Given the description of an element on the screen output the (x, y) to click on. 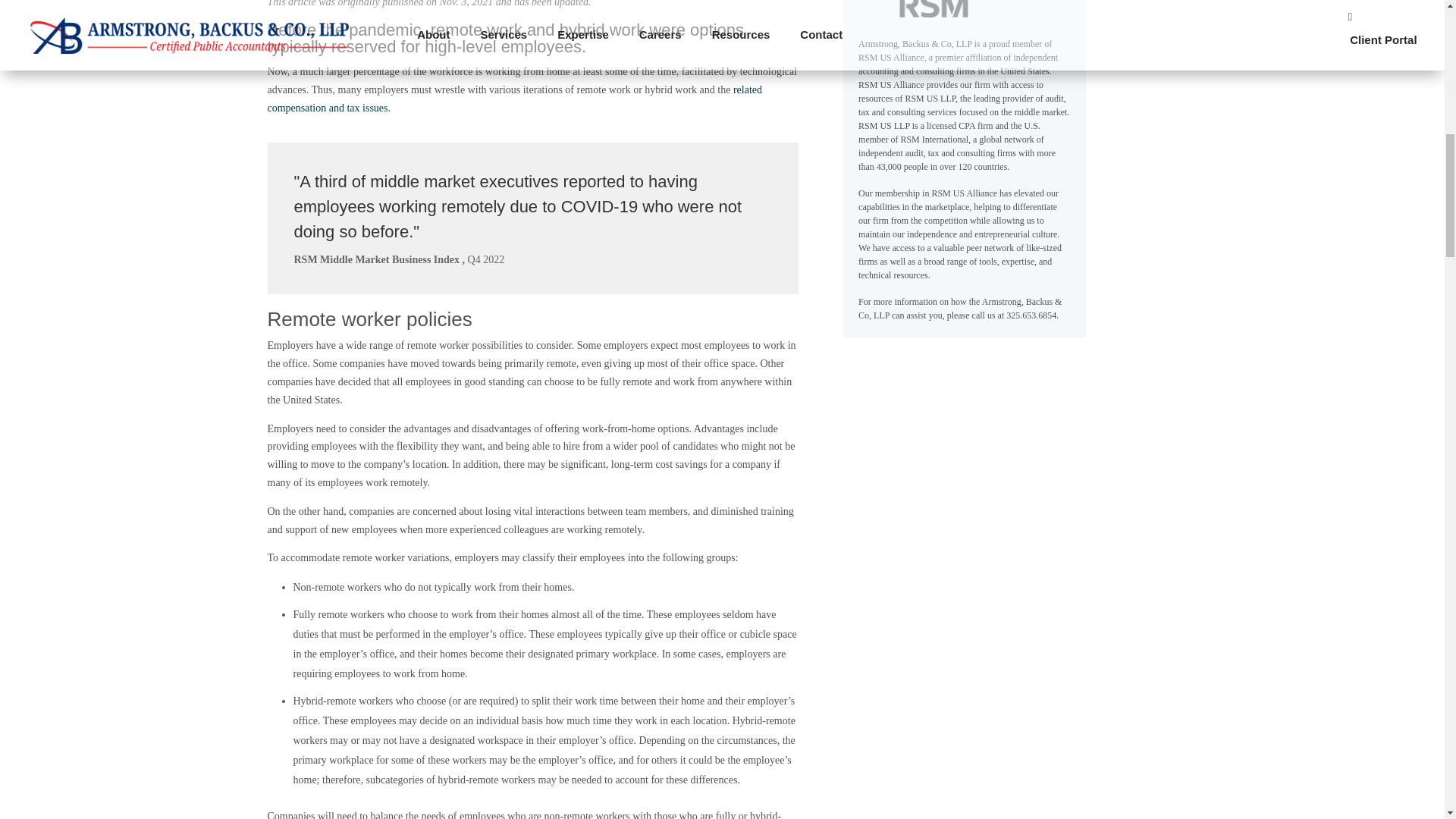
RSM US Alliance Logo Stacked RGB (914, 8)
